Given the description of an element on the screen output the (x, y) to click on. 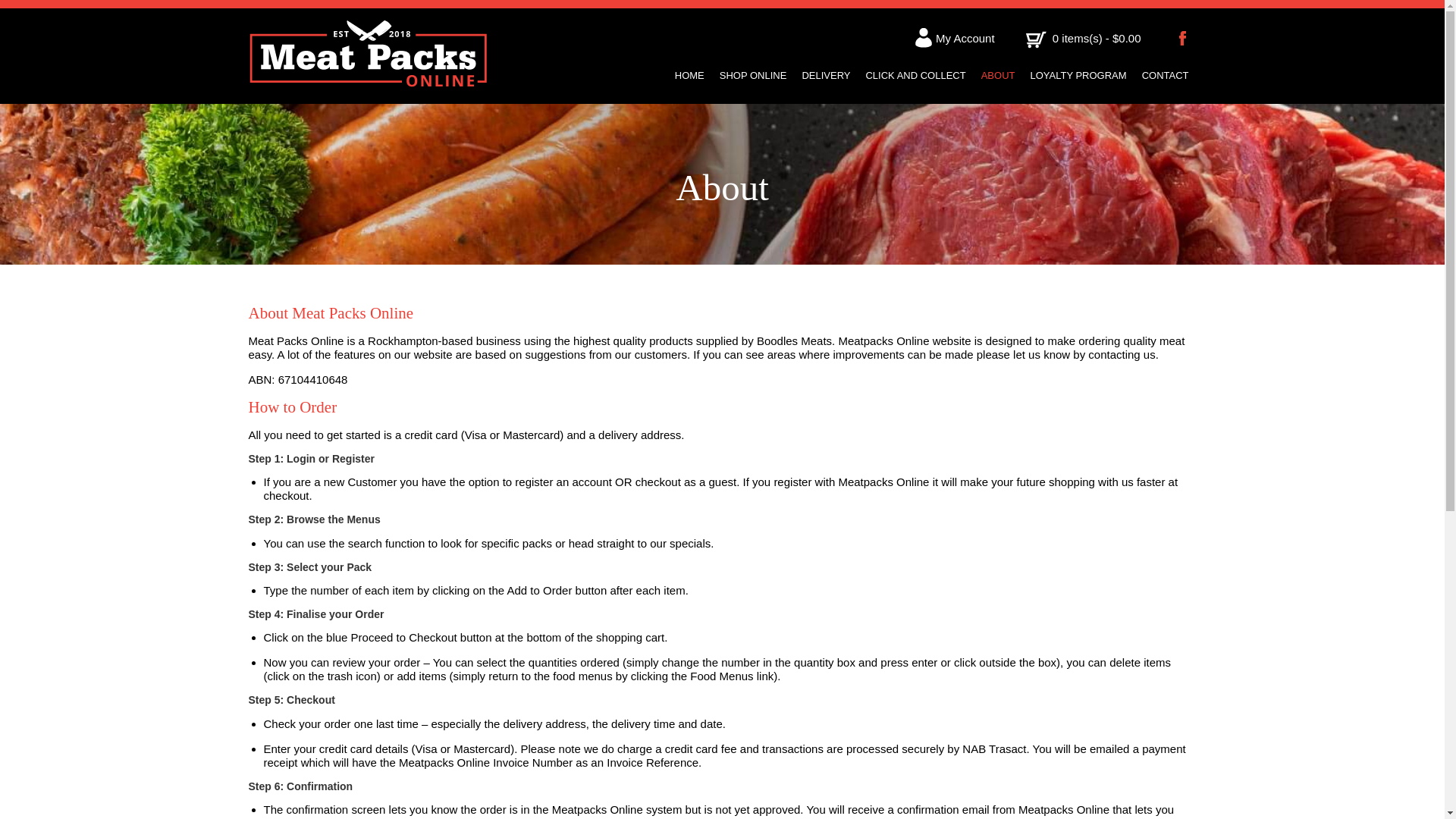
HOME (689, 75)
CLICK AND COLLECT (914, 75)
ABOUT (997, 75)
My Account (956, 38)
SHOP ONLINE (753, 75)
FB (1184, 38)
CONTACT (1165, 75)
LOYALTY PROGRAM (1077, 75)
DELIVERY (826, 75)
